Given the description of an element on the screen output the (x, y) to click on. 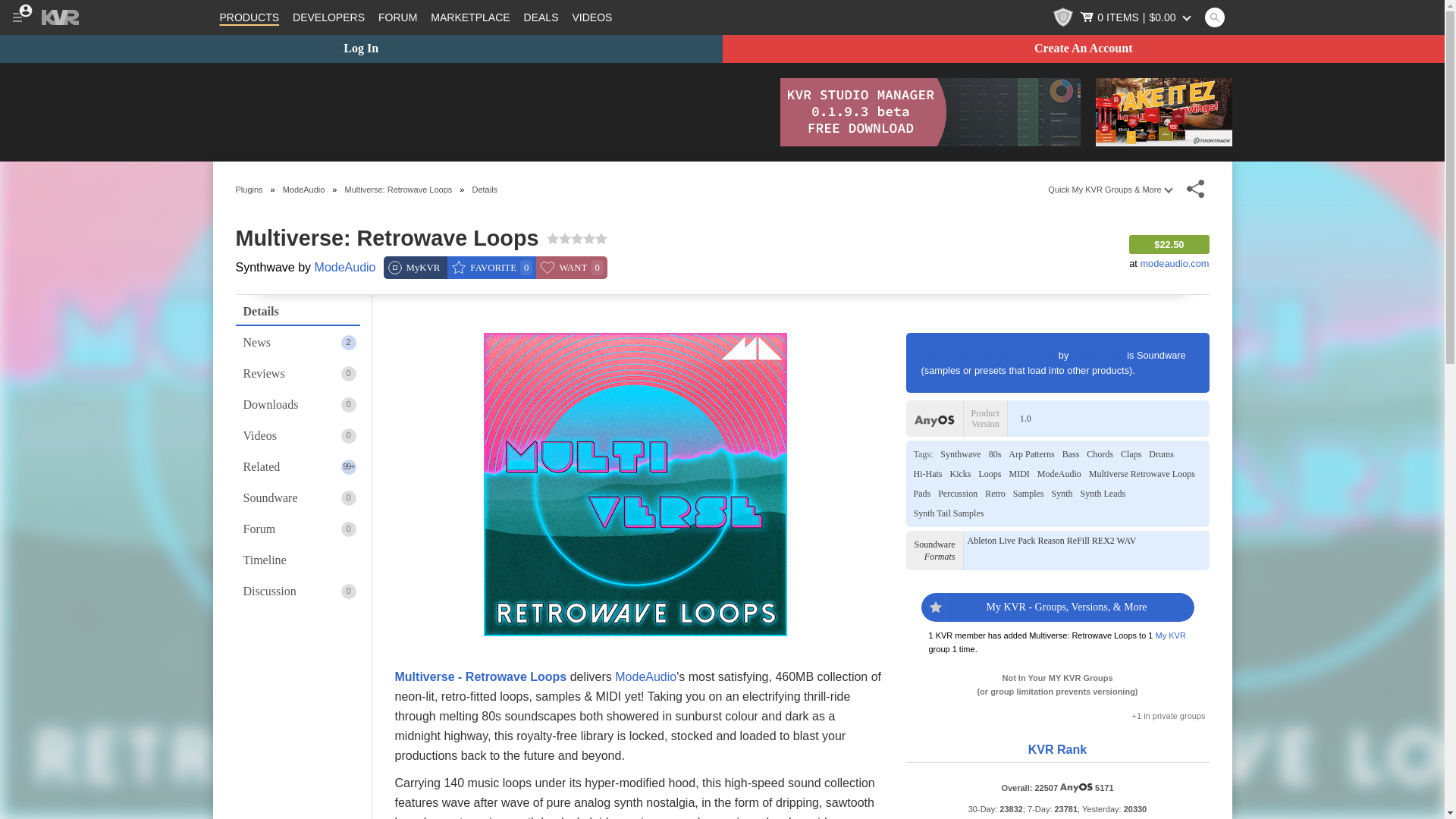
Cart (1136, 17)
MyKVR Groups (416, 267)
Share This (1195, 189)
3rd party ad content (488, 111)
Toontrack - Take-It-EZ (1162, 111)
Favorite (490, 267)
Read reviews and rate and review! (577, 238)
